Given the description of an element on the screen output the (x, y) to click on. 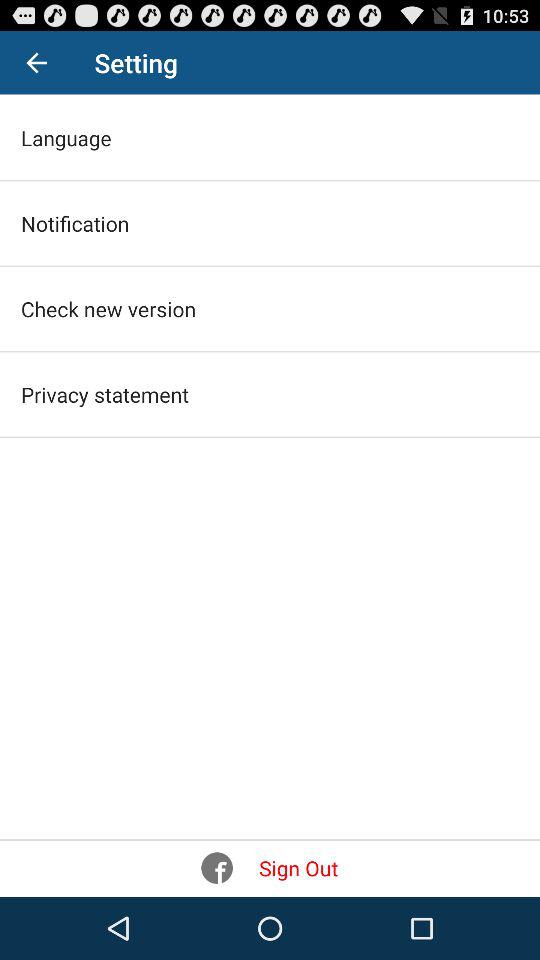
press the icon below notification (108, 308)
